Given the description of an element on the screen output the (x, y) to click on. 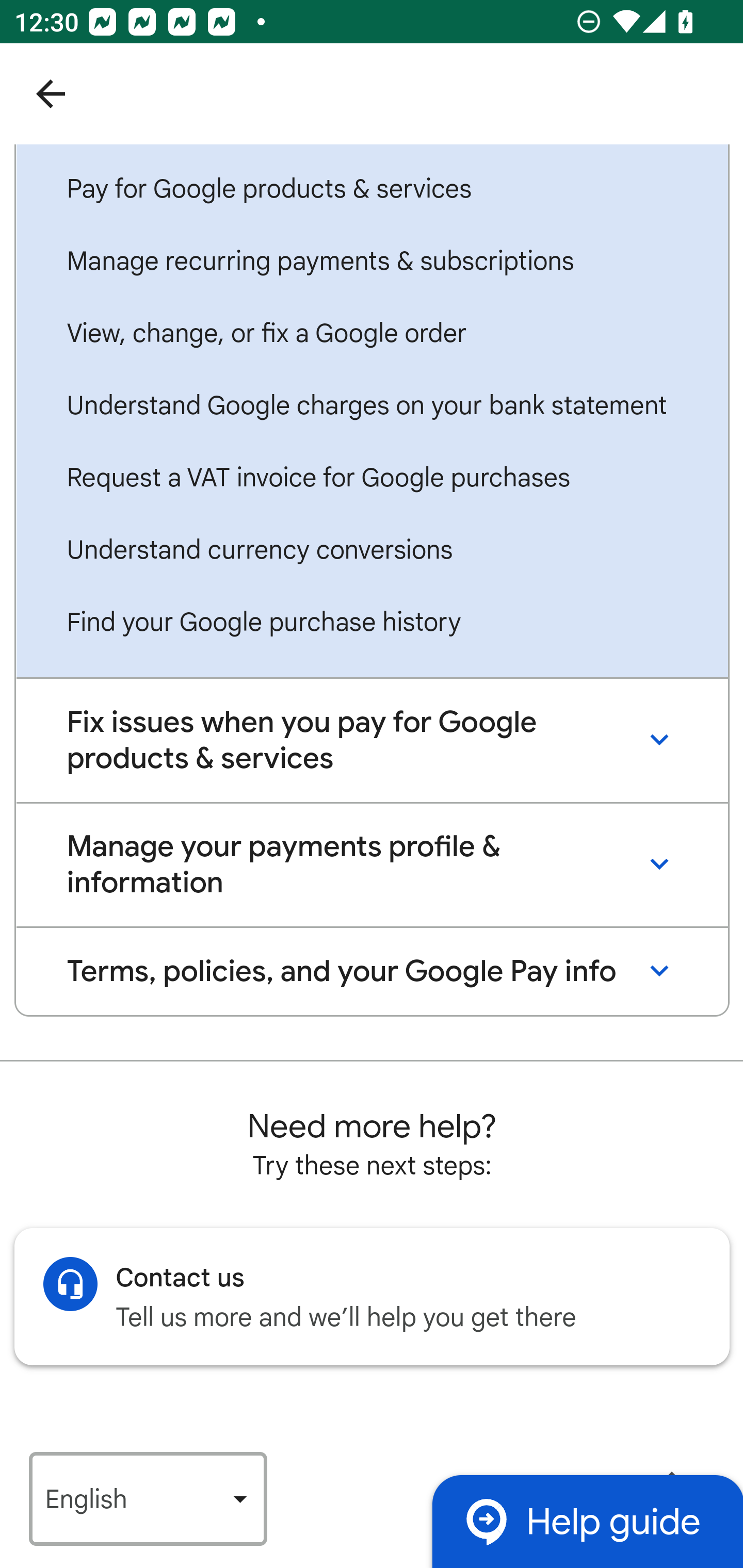
Navigate up (50, 93)
Pay for Google products & services (371, 191)
Manage recurring payments & subscriptions (371, 263)
View, change, or fix a Google order (371, 335)
Understand Google charges on your bank statement (371, 408)
Request a VAT invoice for Google purchases (371, 480)
Understand currency conversions (371, 552)
Find your Google purchase history (371, 624)
Manage your payments profile & information (371, 866)
Terms, policies, and your Google Pay info (371, 972)
Language (English‎) (147, 1500)
Help guide (587, 1522)
